Given the description of an element on the screen output the (x, y) to click on. 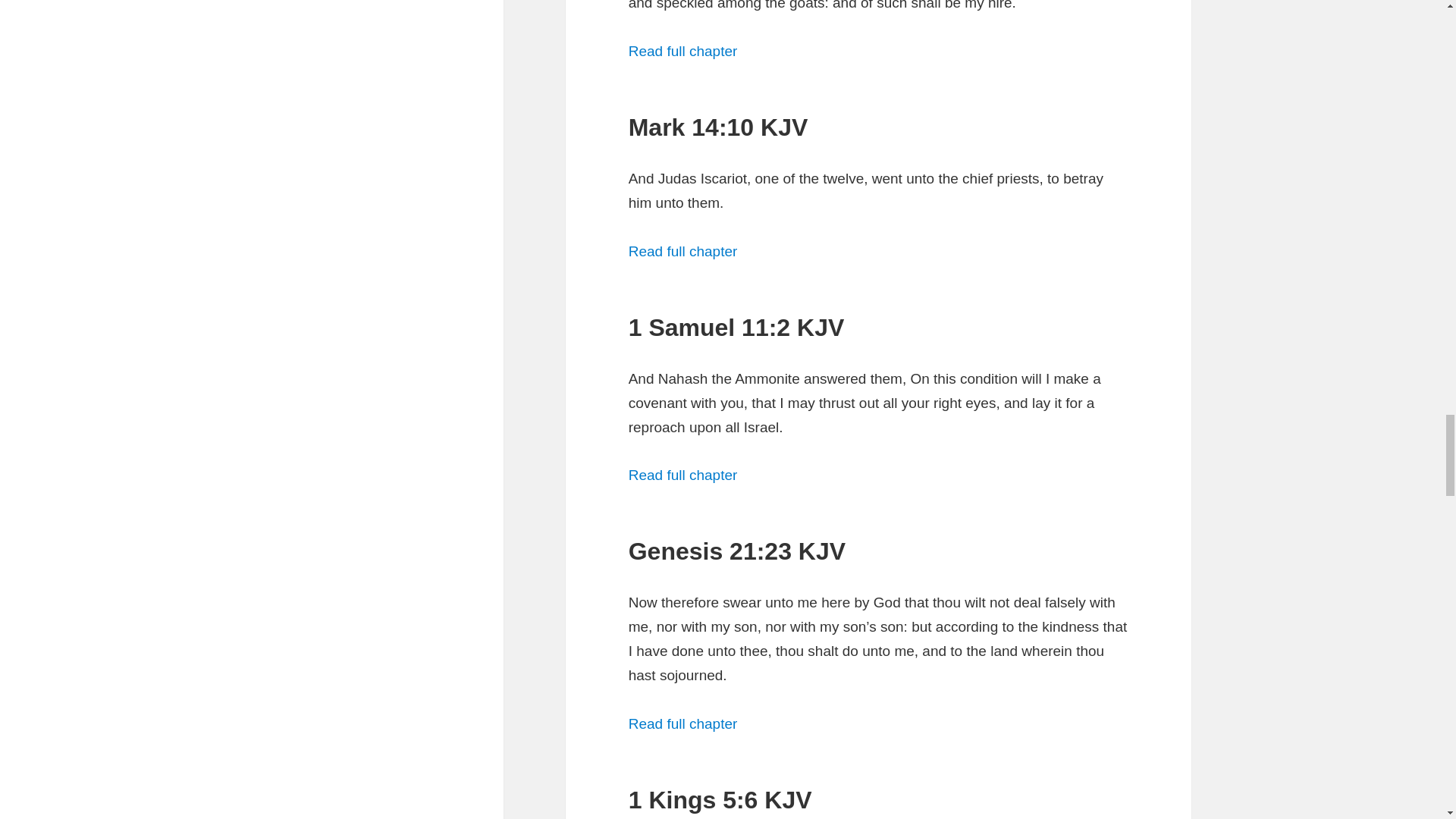
Read full chapter (683, 723)
Read full chapter (683, 474)
Read full chapter (683, 251)
Read full chapter (683, 50)
